Given the description of an element on the screen output the (x, y) to click on. 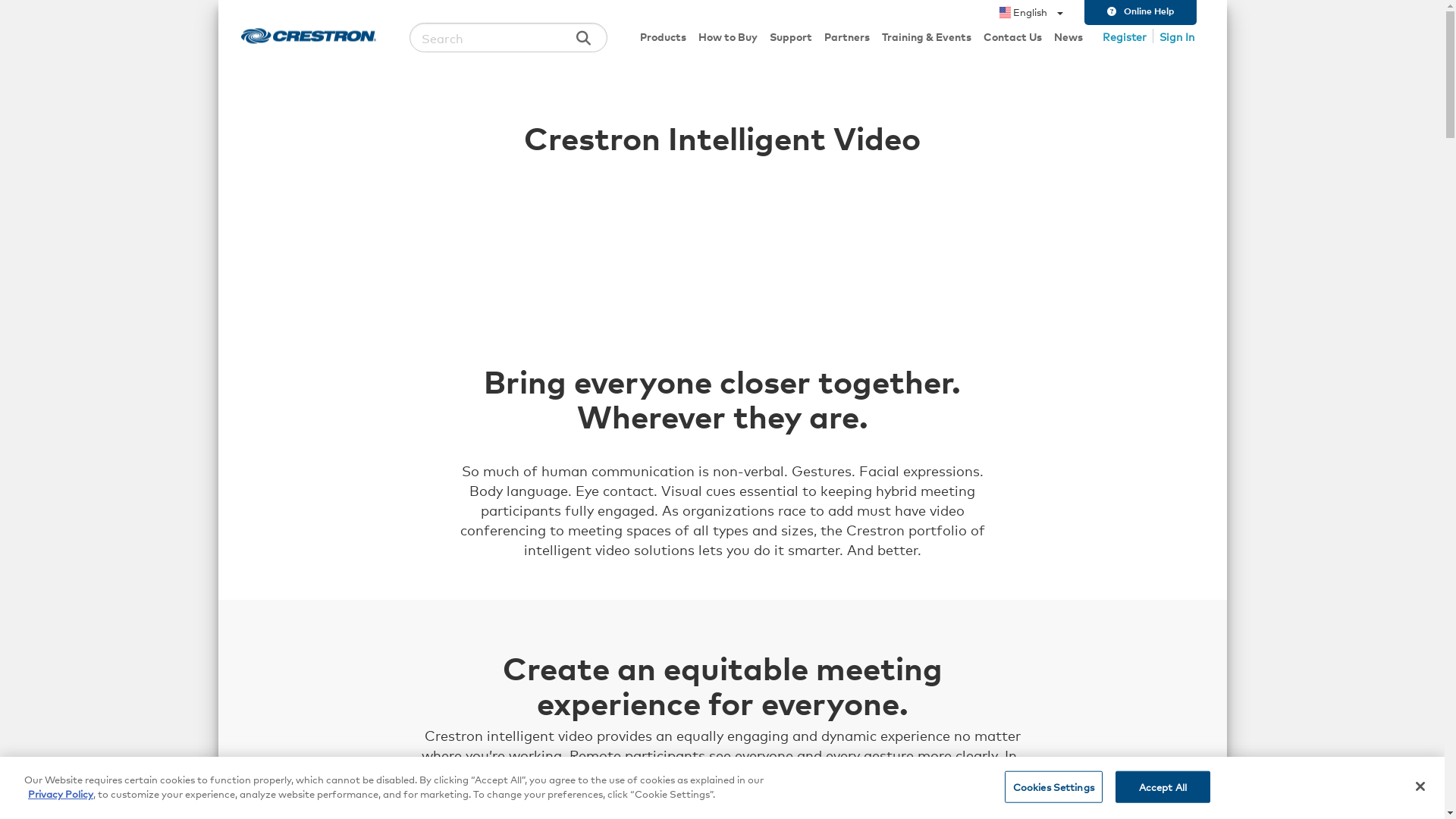
Contact Us Element type: text (1011, 35)
English Element type: text (1030, 12)
Cookies Settings Element type: text (1053, 787)
Products Element type: text (663, 35)
How to Buy Element type: text (726, 35)
Privacy Policy Element type: text (60, 793)
News Element type: text (1068, 35)
Partners Element type: text (846, 35)
Online Help Element type: text (1140, 12)
Training & Events Element type: text (925, 35)
Support Element type: text (789, 35)
Register Element type: text (1127, 35)
Accept All Element type: text (1162, 787)
Sign In Element type: text (1175, 35)
